Given the description of an element on the screen output the (x, y) to click on. 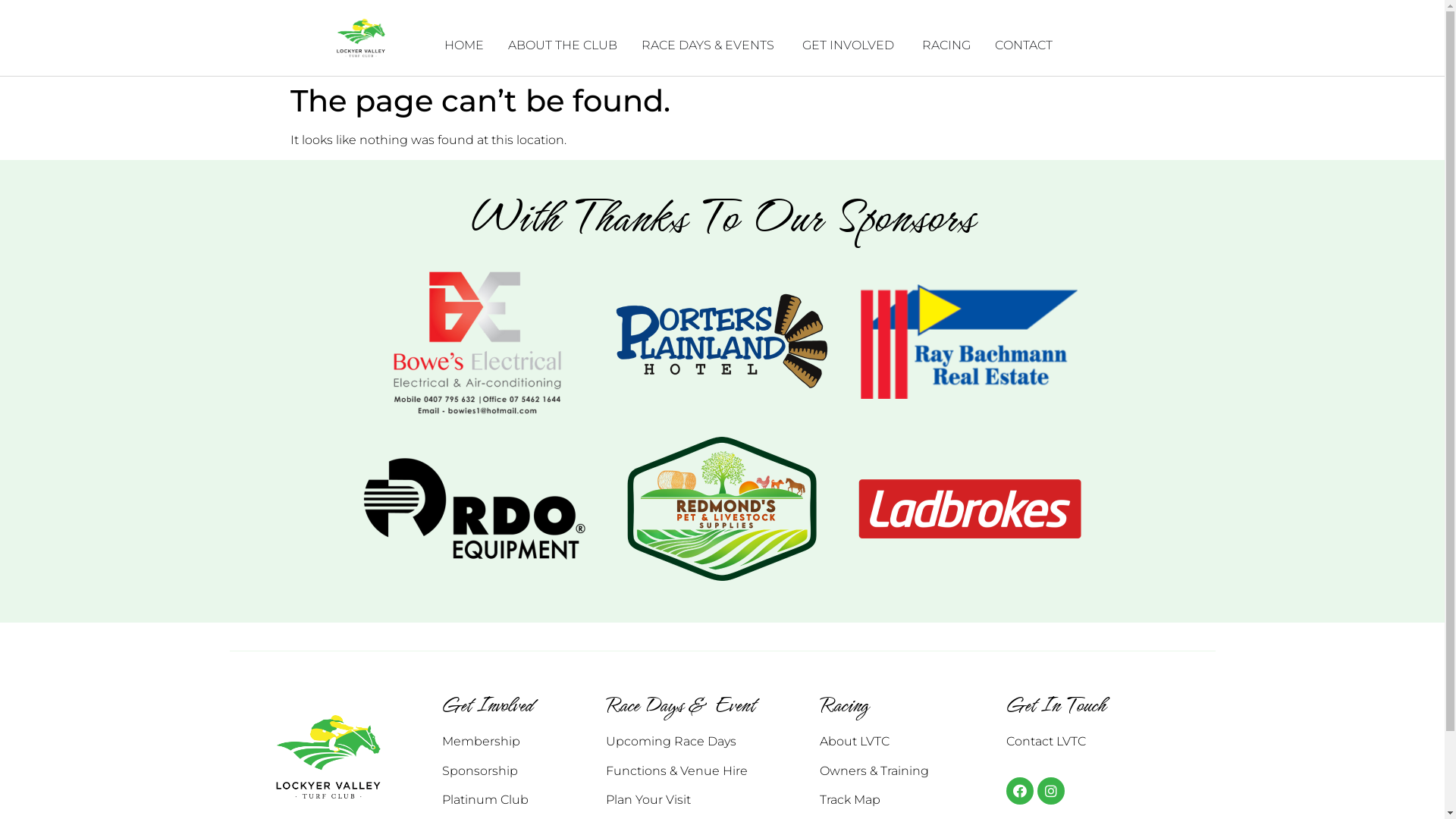
Sponsorship Element type: text (479, 770)
Owners & Training Element type: text (873, 770)
Upcoming Race Days Element type: text (670, 741)
Get In Touch Element type: text (1055, 704)
ABOUT THE CLUB Element type: text (562, 45)
Track Map Element type: text (849, 799)
Get Involved Element type: text (486, 704)
RACE DAYS & EVENTS Element type: text (707, 45)
Plan Your Visit Element type: text (647, 799)
About LVTC Element type: text (854, 741)
Membership Element type: text (480, 741)
Platinum Club Element type: text (484, 799)
RACING Element type: text (946, 45)
CONTACT Element type: text (1023, 45)
Contact LVTC Element type: text (1045, 741)
Functions & Venue Hire Element type: text (676, 770)
Racing Element type: text (843, 704)
Race Days & Event Element type: text (679, 704)
GET INVOLVED Element type: text (848, 45)
HOME Element type: text (463, 45)
